Given the description of an element on the screen output the (x, y) to click on. 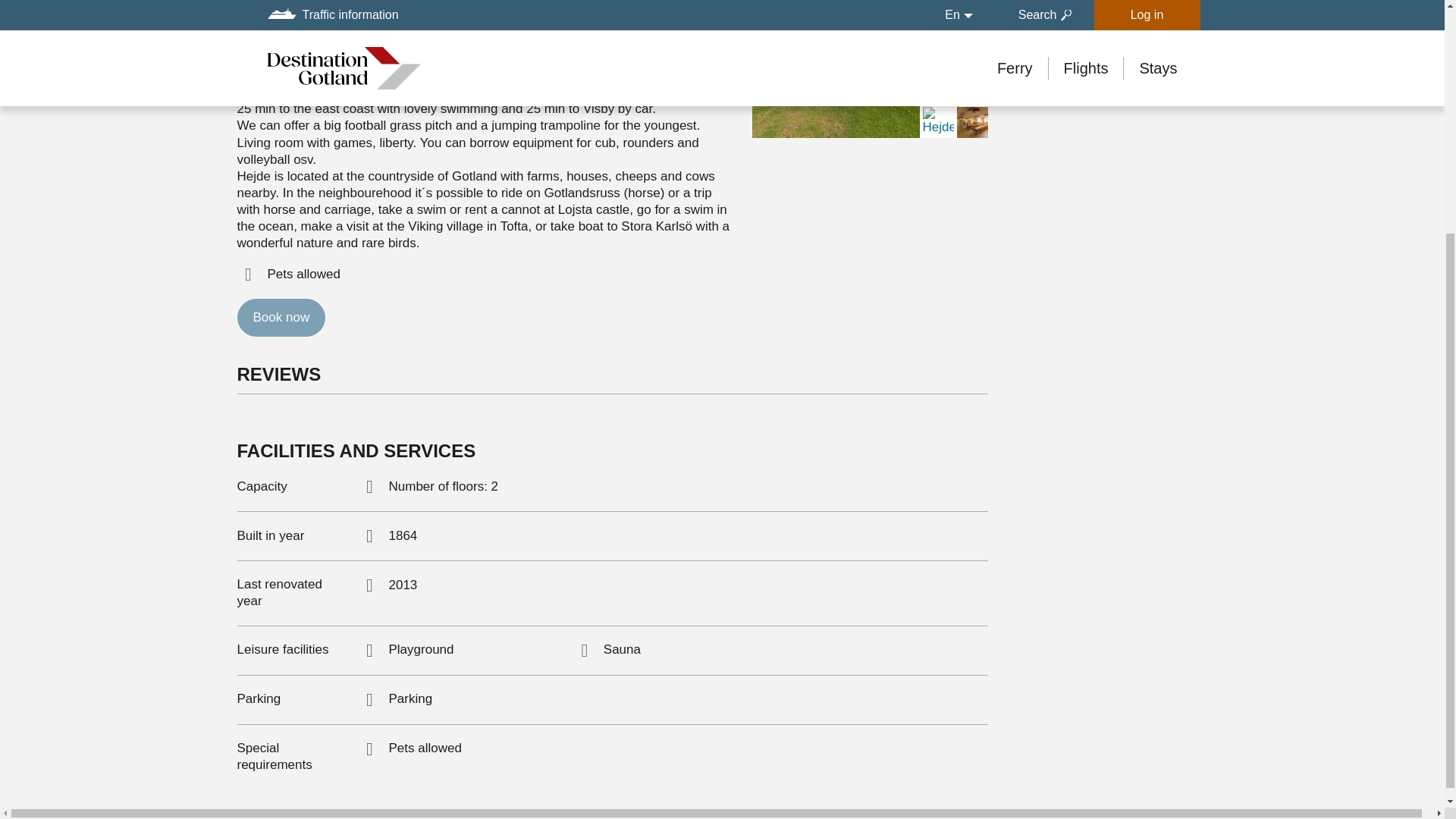
Pets allowed (247, 274)
Hejdebo Hostel (836, 556)
Hejdebo Hostel (836, 389)
Hejdebo Hostel (836, 69)
Hejdebo Hostel (836, 724)
Hejdebo Hostel (836, 221)
